Given the description of an element on the screen output the (x, y) to click on. 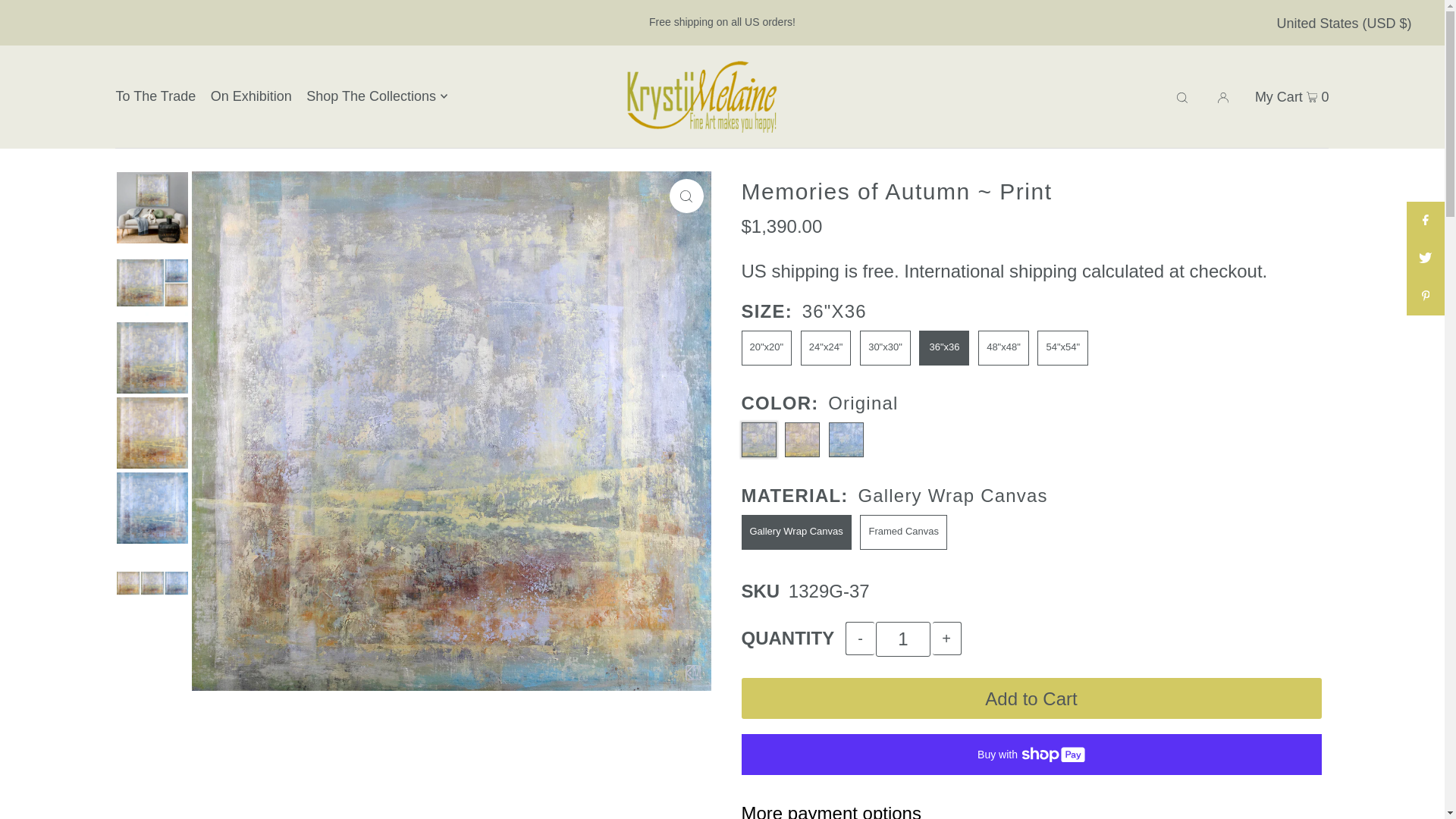
1 (903, 638)
Add to Cart (1031, 698)
